Given the description of an element on the screen output the (x, y) to click on. 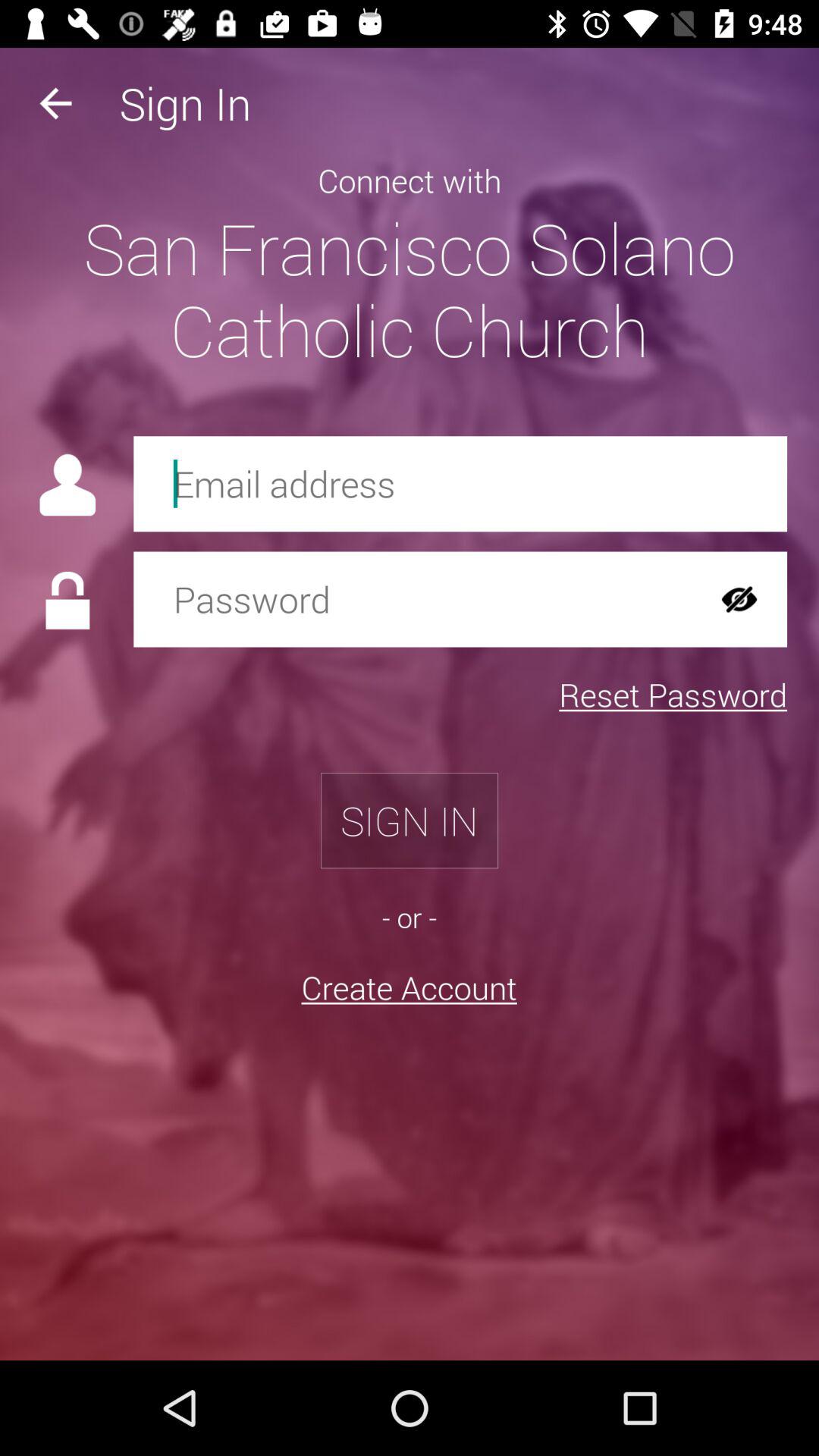
enter email address (460, 483)
